Given the description of an element on the screen output the (x, y) to click on. 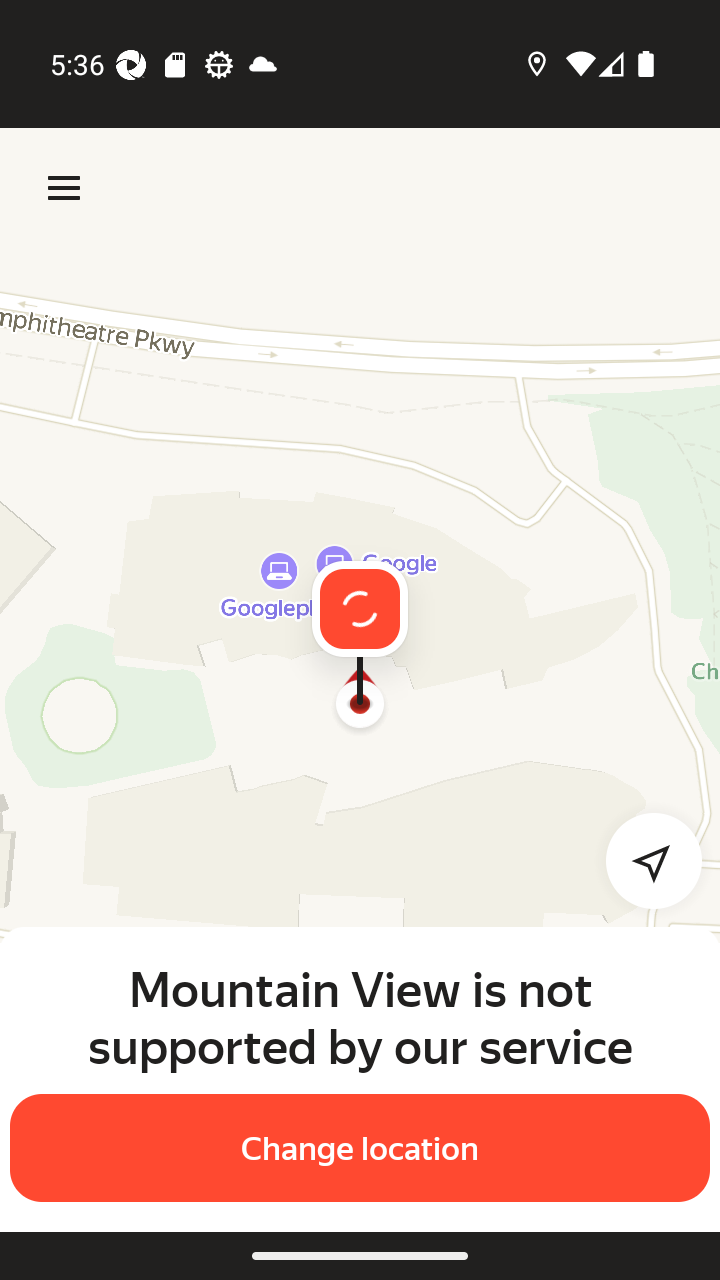
Menu Menu Menu (64, 188)
Detect my location (641, 860)
Mountain View is not supported by our service (360, 1017)
Change location (359, 1147)
